Given the description of an element on the screen output the (x, y) to click on. 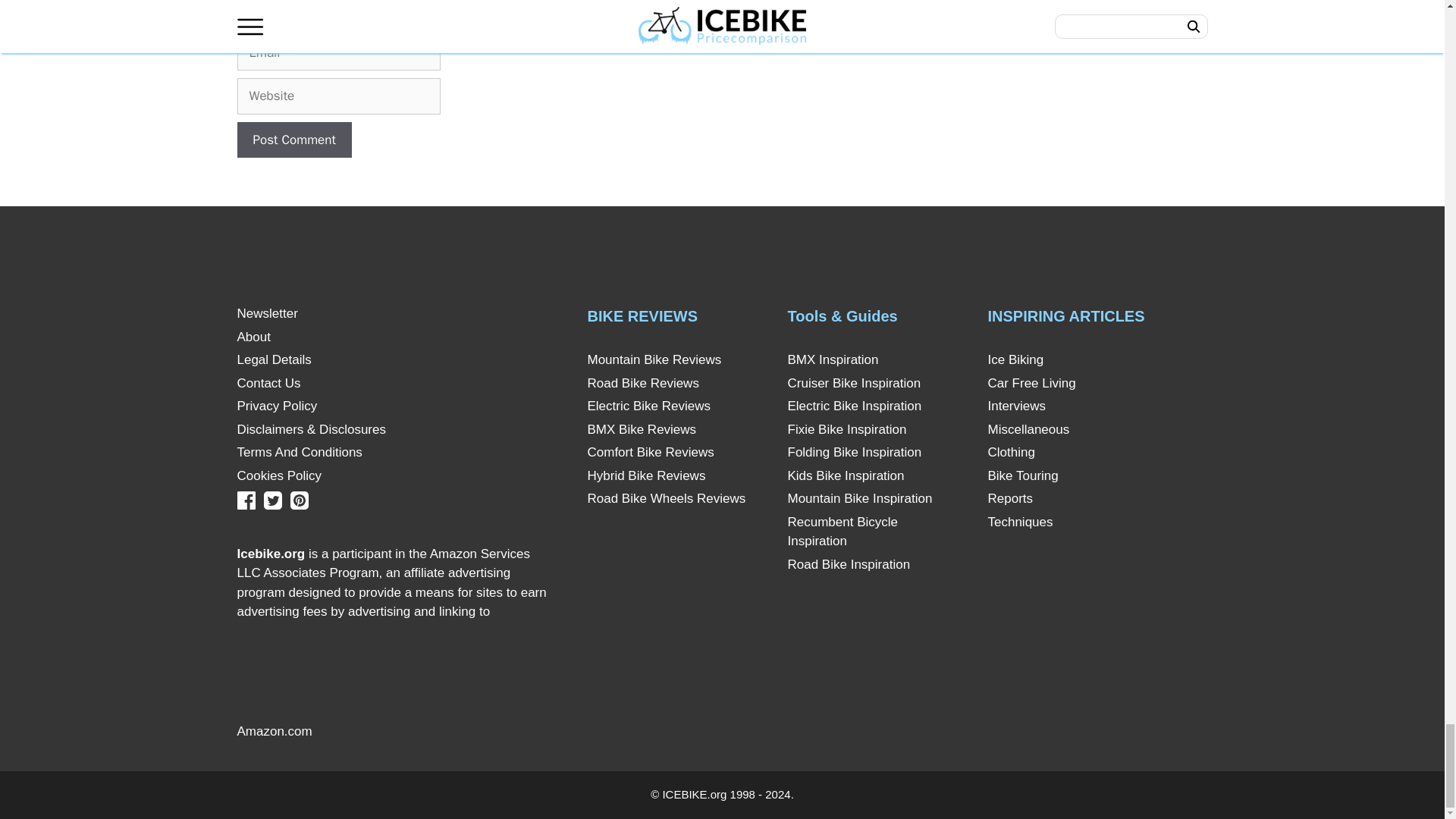
DMCA.com Protection Status (432, 730)
Post Comment (292, 140)
